Given the description of an element on the screen output the (x, y) to click on. 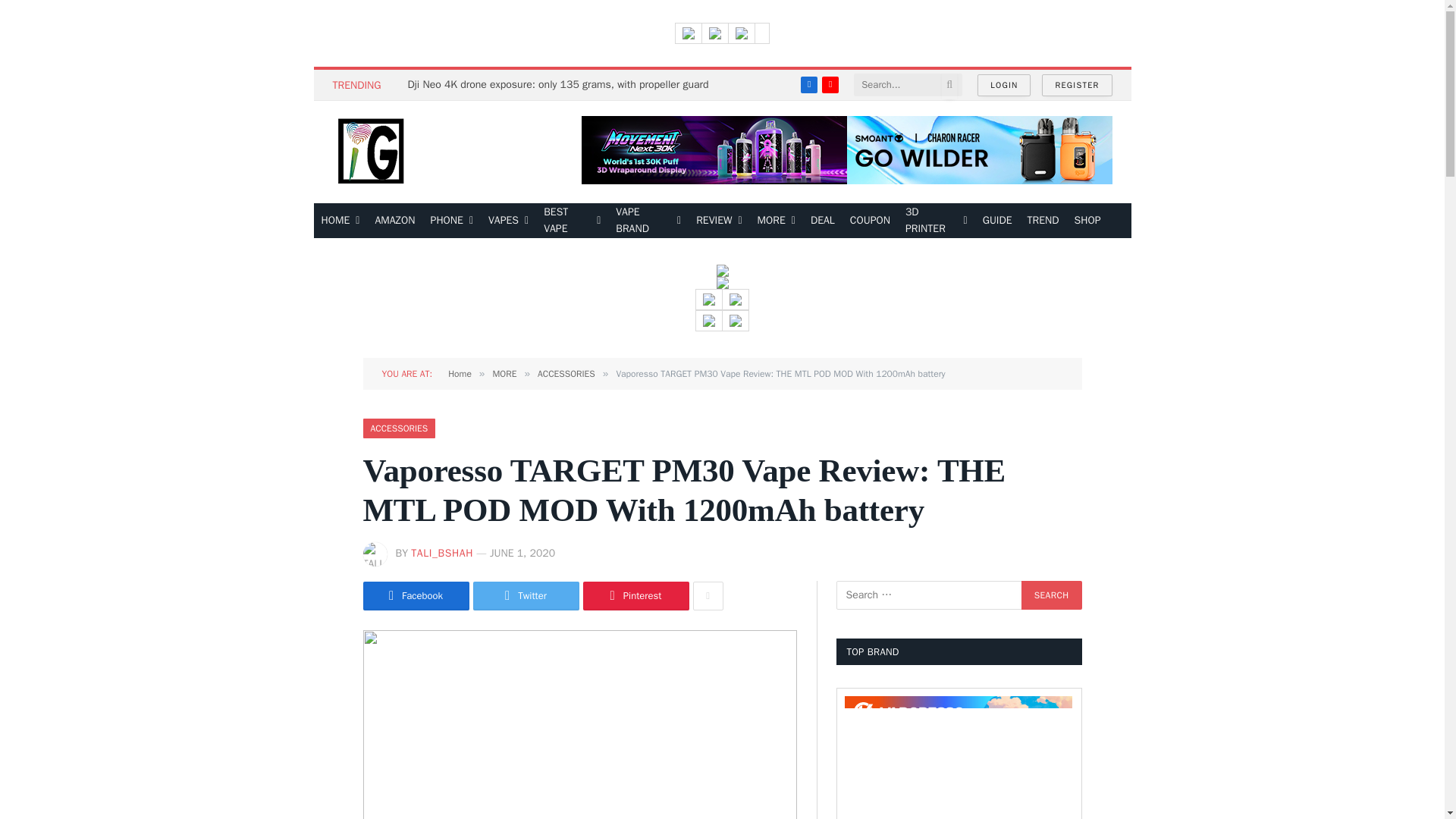
Show More Social Sharing (708, 595)
PHONE (451, 220)
REGISTER (1077, 85)
Share on Twitter (526, 595)
LOGIN (1003, 85)
HOME (341, 220)
Share on Pinterest (635, 595)
Search (1051, 594)
AMAZON (394, 220)
Facebook (808, 84)
Search (1051, 594)
YouTube (830, 84)
Share on Facebook (415, 595)
